Given the description of an element on the screen output the (x, y) to click on. 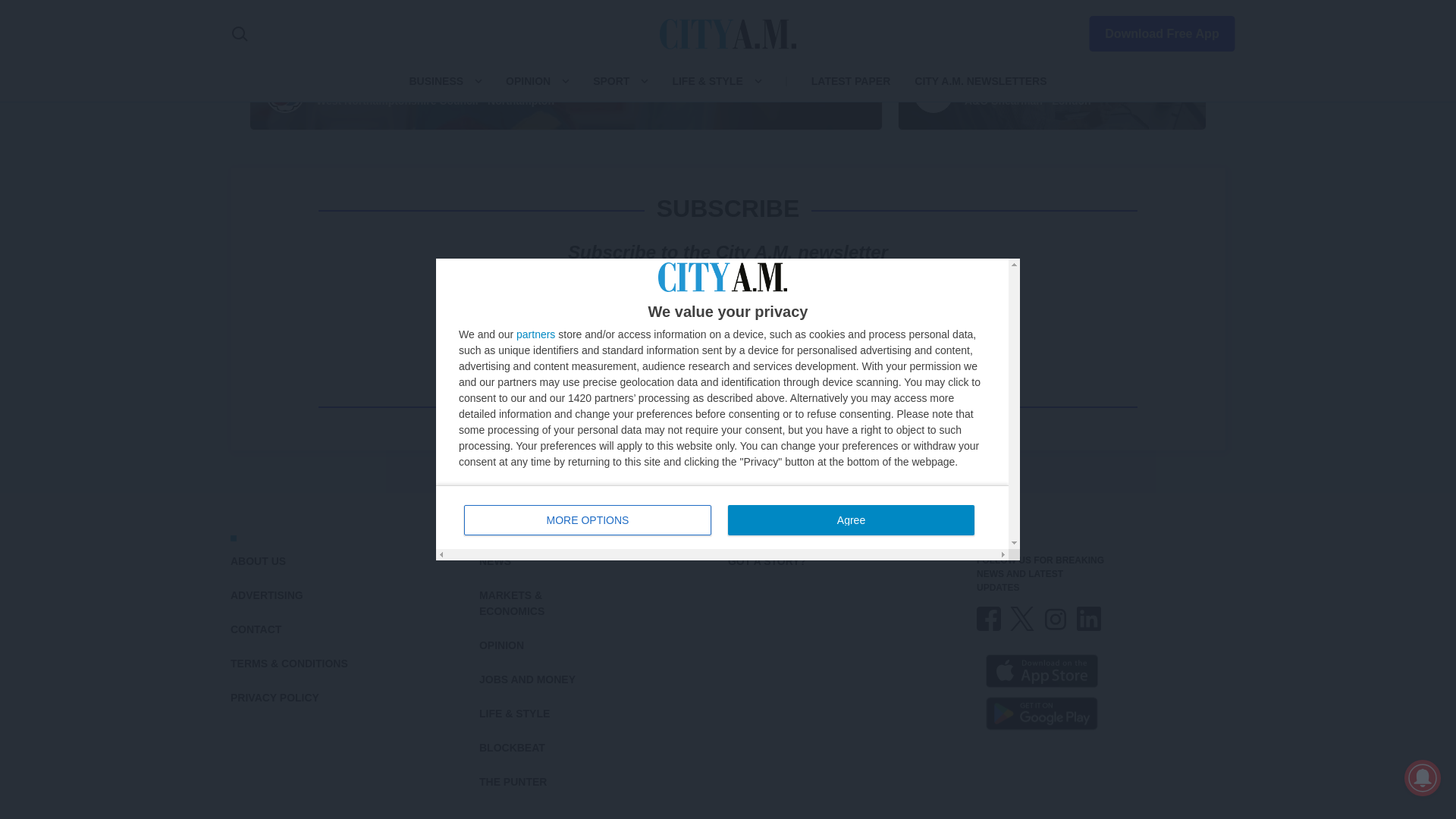
INSTAGRAM (1055, 618)
FACEBOOK (988, 618)
X (1021, 618)
LINKEDIN (1088, 618)
